Given the description of an element on the screen output the (x, y) to click on. 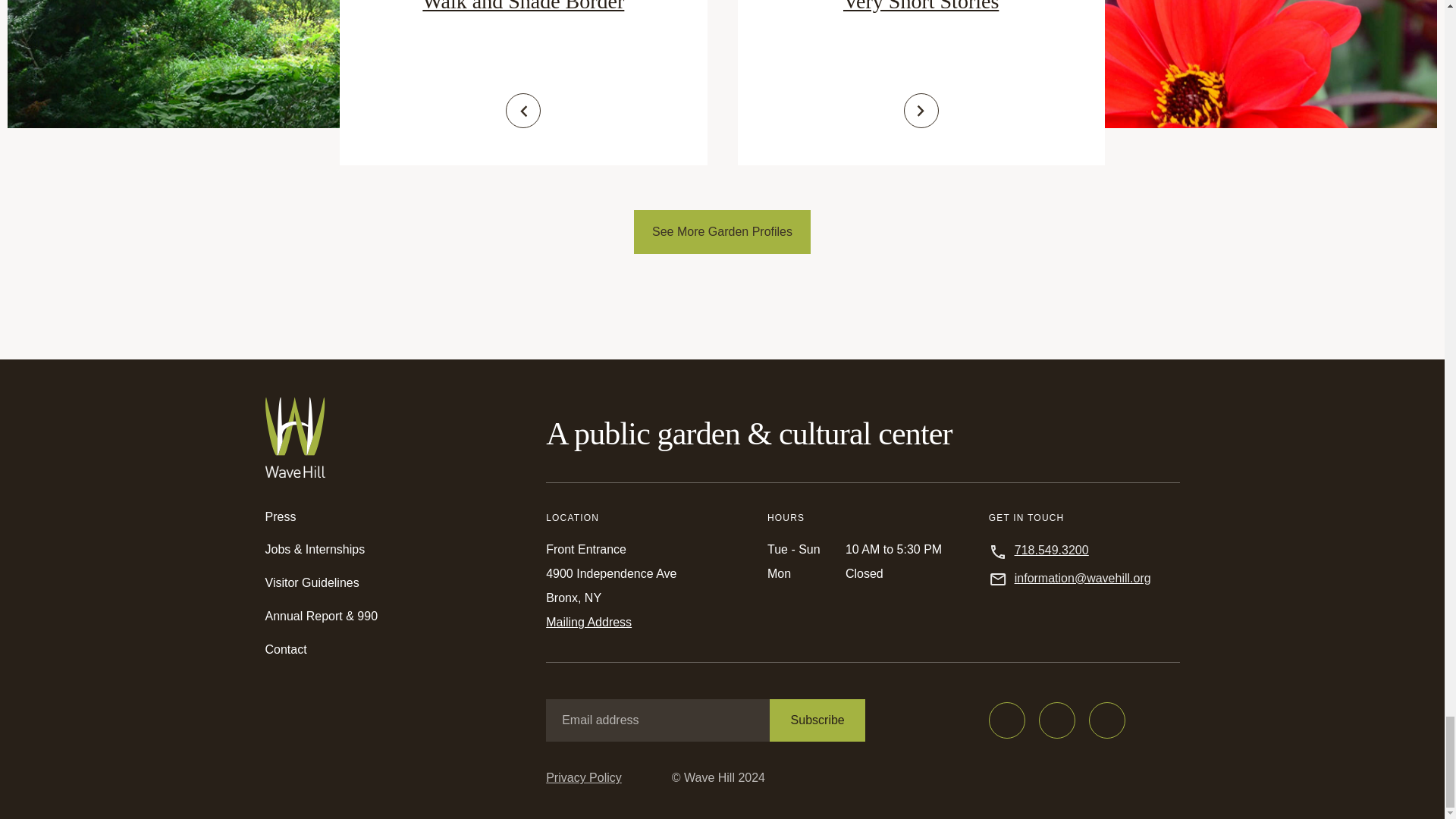
Opens in new tab (1107, 719)
Opens in new tab (1006, 719)
Opens in new tab (1057, 719)
